Given the description of an element on the screen output the (x, y) to click on. 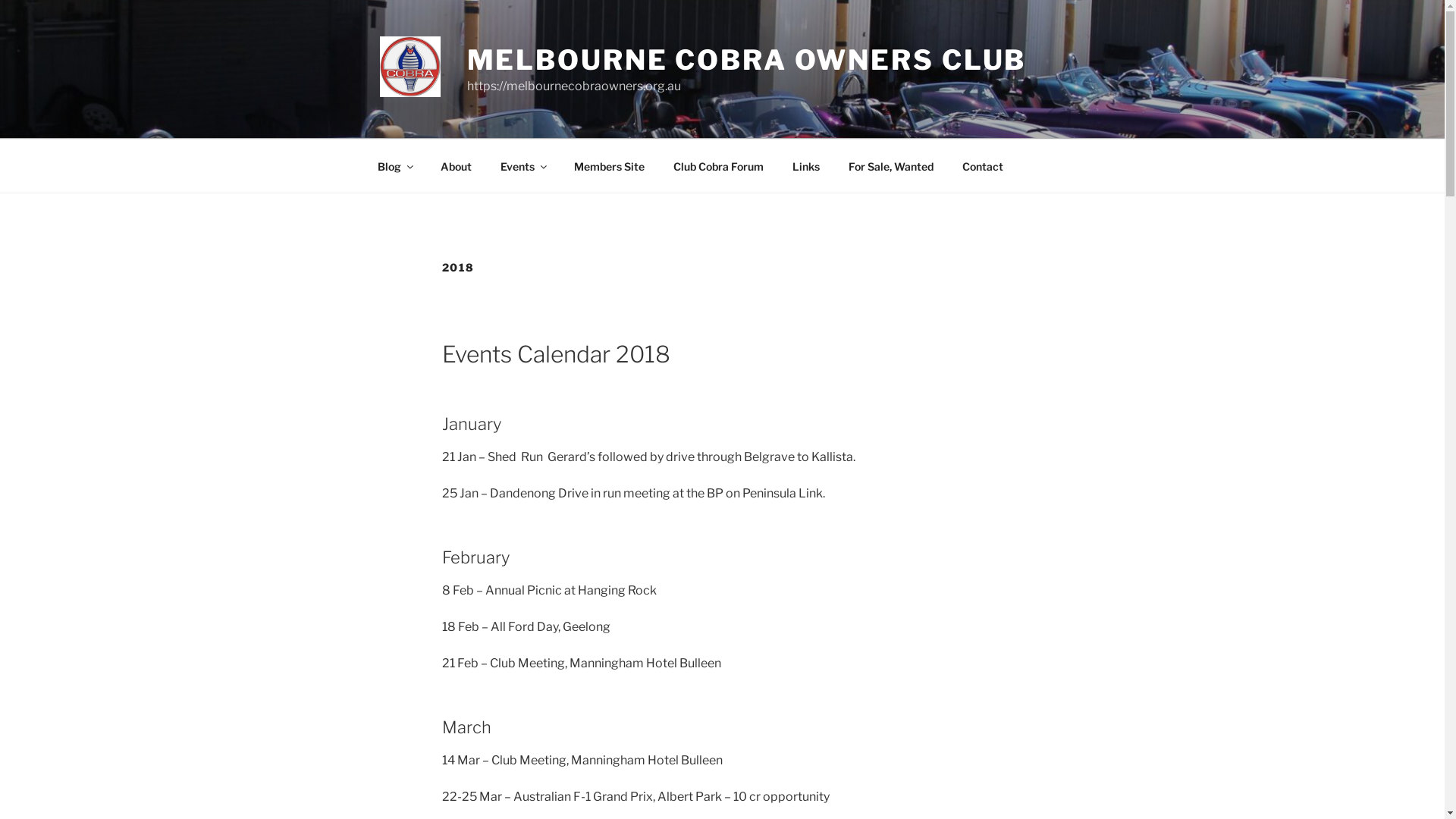
Skip to content Element type: text (0, 0)
Members Site Element type: text (609, 165)
About Element type: text (456, 165)
MELBOURNE COBRA OWNERS CLUB Element type: text (746, 59)
Events Element type: text (522, 165)
Blog Element type: text (394, 165)
Club Cobra Forum Element type: text (717, 165)
Contact Element type: text (982, 165)
For Sale, Wanted Element type: text (891, 165)
Links Element type: text (806, 165)
